Given the description of an element on the screen output the (x, y) to click on. 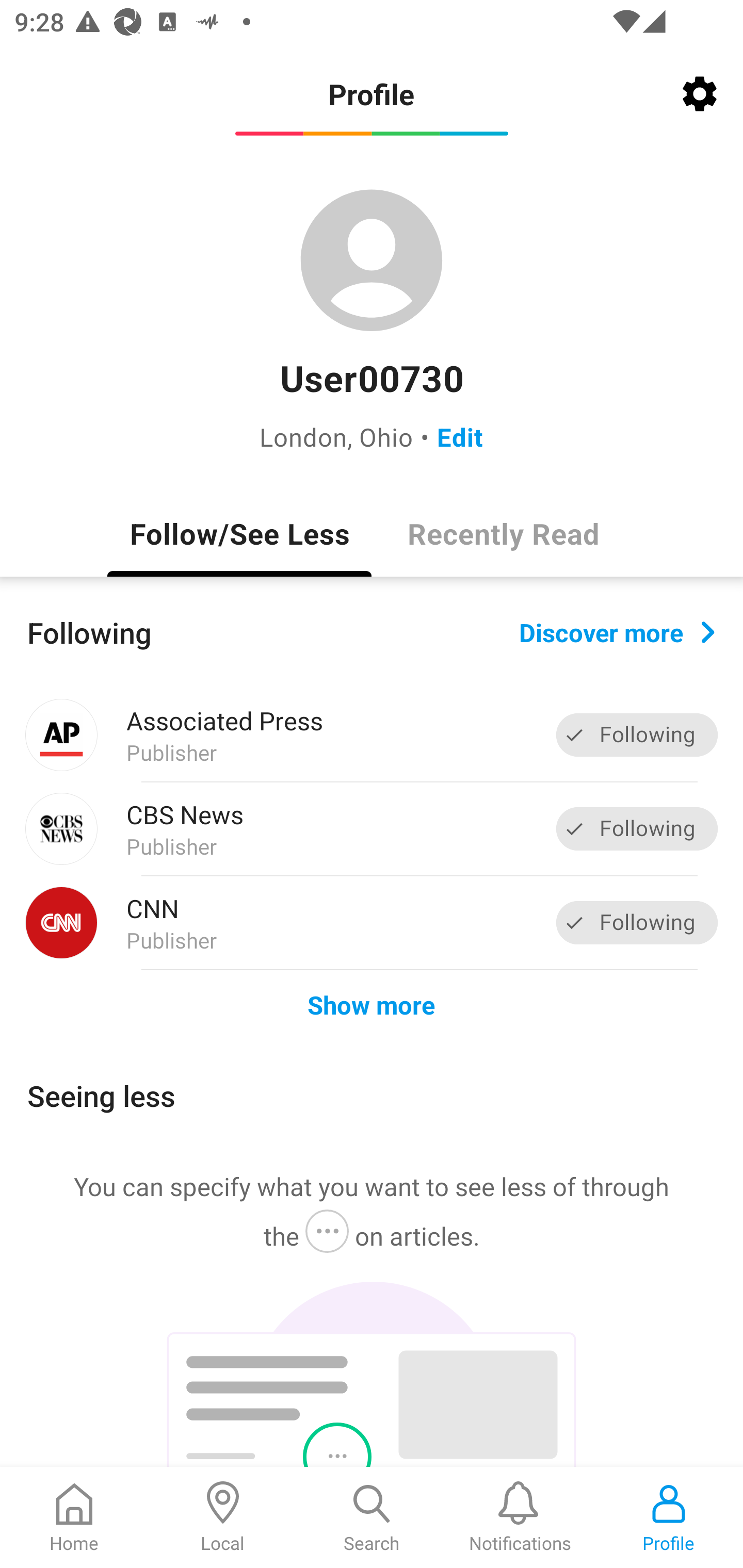
Settings (699, 93)
Edit (459, 436)
Recently Read (503, 533)
Discover more (617, 631)
Associated Press Publisher Following (371, 735)
Following (636, 735)
CBS News Publisher Following (371, 829)
Following (636, 828)
CNN Publisher Following (371, 922)
Following (636, 922)
Show more (371, 1004)
Home (74, 1517)
Local (222, 1517)
Search (371, 1517)
Notifications (519, 1517)
